Given the description of an element on the screen output the (x, y) to click on. 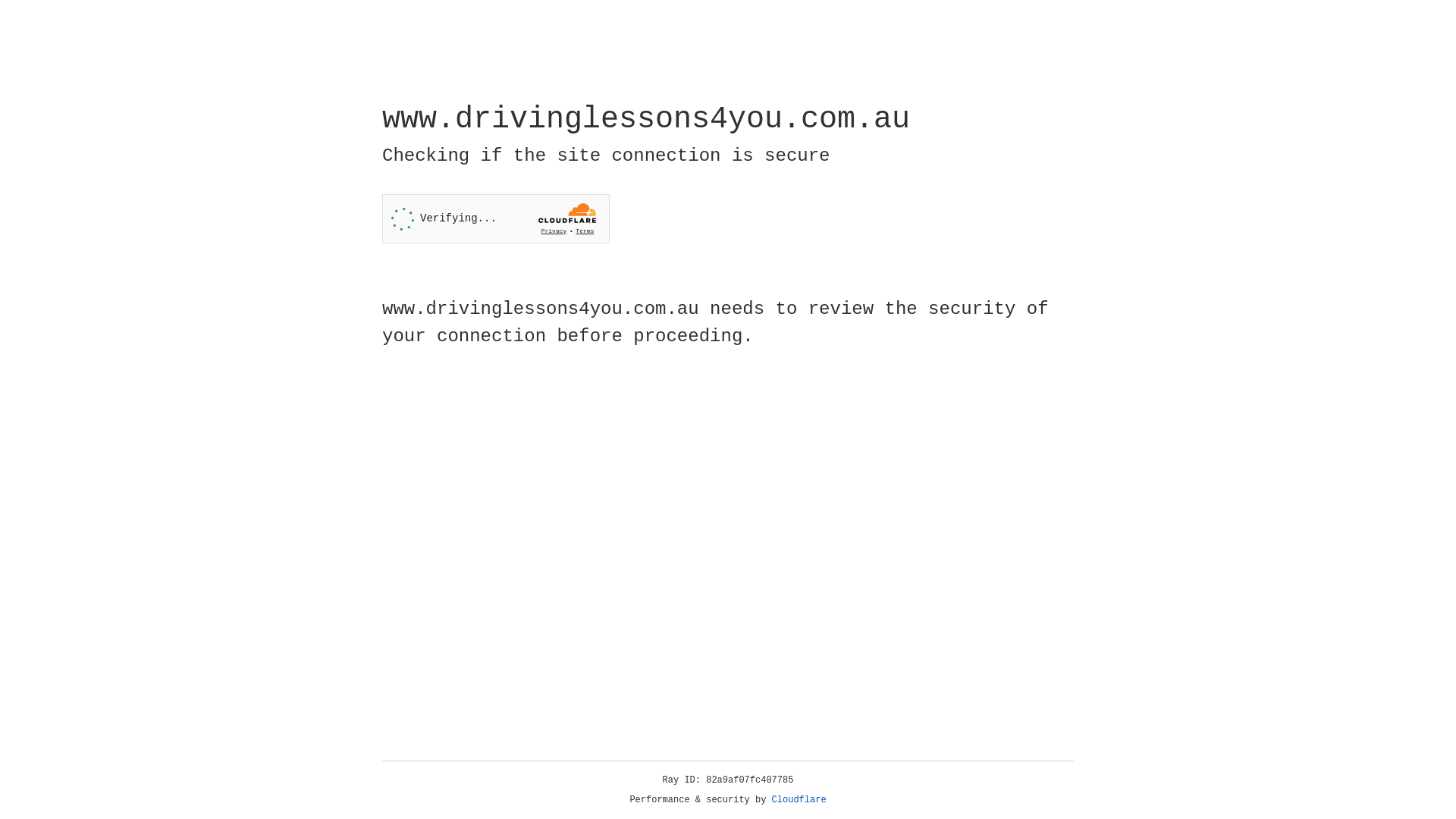
Cloudflare Element type: text (798, 799)
Widget containing a Cloudflare security challenge Element type: hover (495, 218)
